Given the description of an element on the screen output the (x, y) to click on. 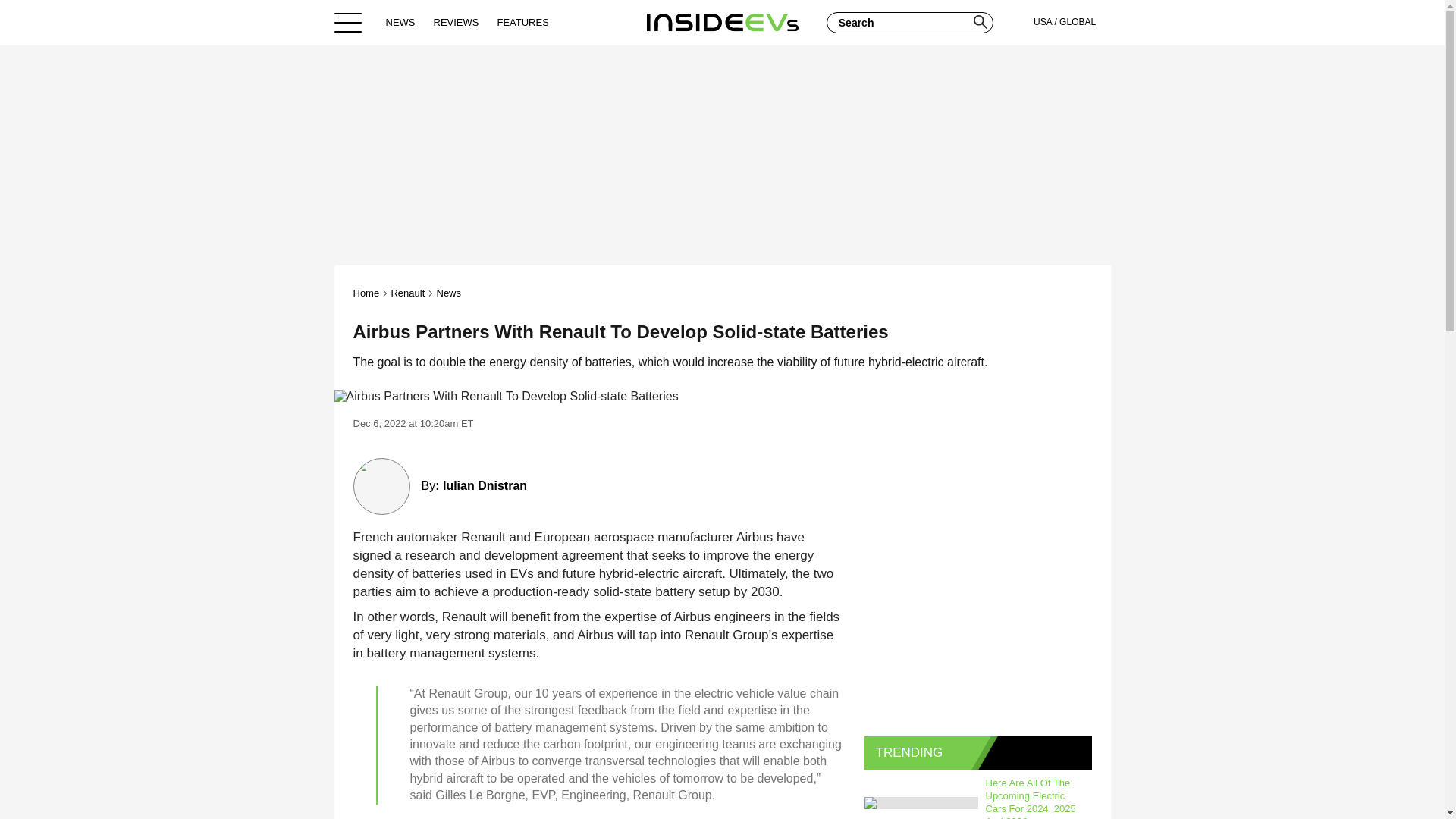
NEWS (399, 22)
FEATURES (522, 22)
Home (366, 293)
Home (721, 22)
News (448, 292)
Renault (407, 292)
Iulian Dnistran (484, 485)
REVIEWS (456, 22)
